Given the description of an element on the screen output the (x, y) to click on. 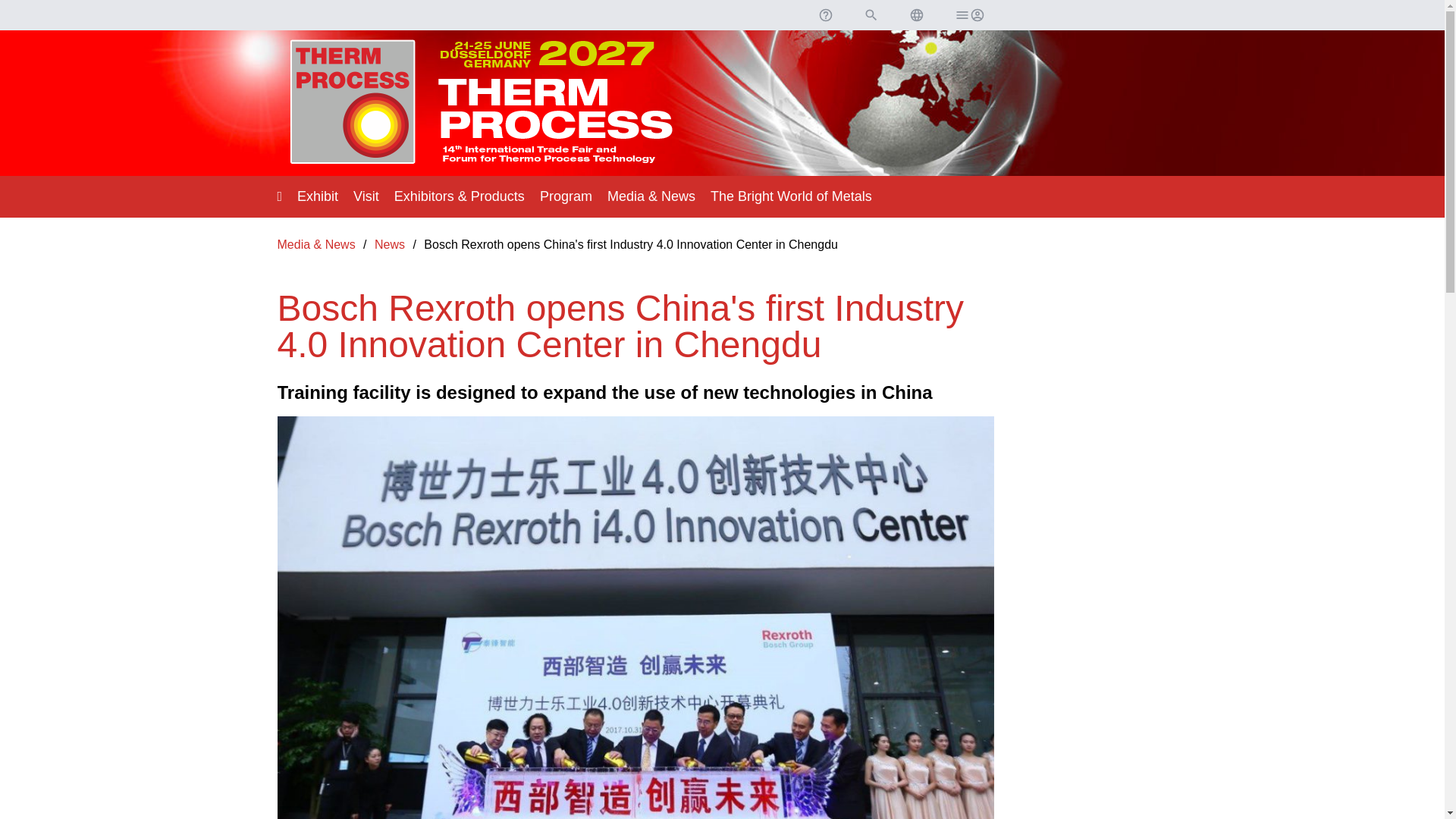
Support (824, 14)
Login (968, 14)
English (915, 14)
Search (870, 14)
